Given the description of an element on the screen output the (x, y) to click on. 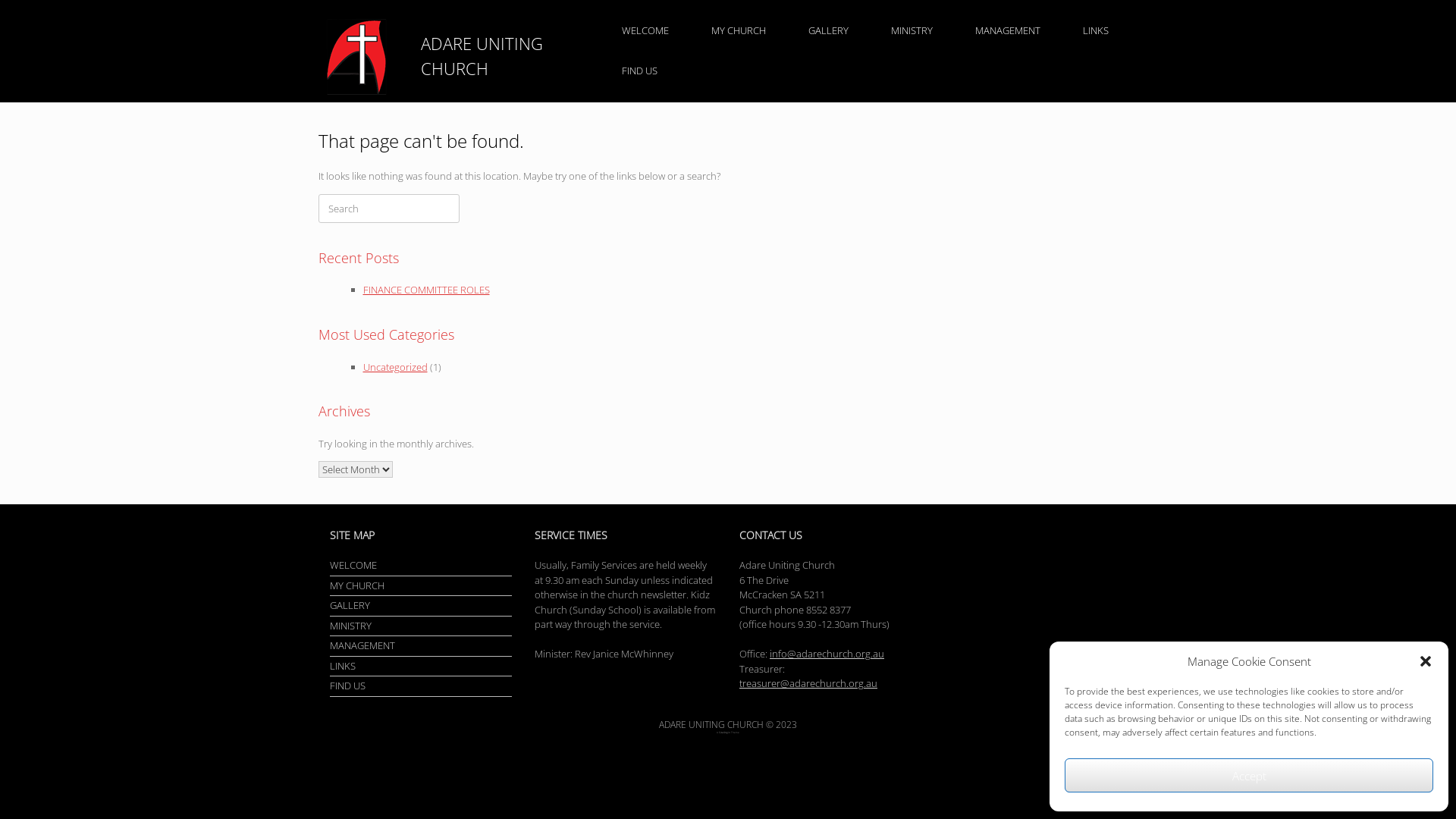
info@adarechurch.org.au Element type: text (826, 653)
GALLERY Element type: text (828, 30)
SiteOrigin Element type: text (724, 732)
MY CHURCH Element type: text (738, 30)
treasurer@adarechurch.org.au Element type: text (808, 683)
MINISTRY Element type: text (420, 627)
LINKS Element type: text (1095, 30)
MANAGEMENT Element type: text (420, 647)
MY CHURCH Element type: text (420, 587)
Uncategorized Element type: text (394, 366)
Accept Element type: text (1248, 775)
LINKS Element type: text (420, 667)
WELCOME Element type: text (645, 30)
FINANCE COMMITTEE ROLES Element type: text (425, 289)
FIND US Element type: text (639, 70)
FIND US Element type: text (420, 687)
MINISTRY Element type: text (911, 30)
GALLERY Element type: text (420, 607)
ADARE UNITING CHURCH Element type: text (453, 55)
WELCOME Element type: text (420, 567)
MANAGEMENT Element type: text (1007, 30)
